Given the description of an element on the screen output the (x, y) to click on. 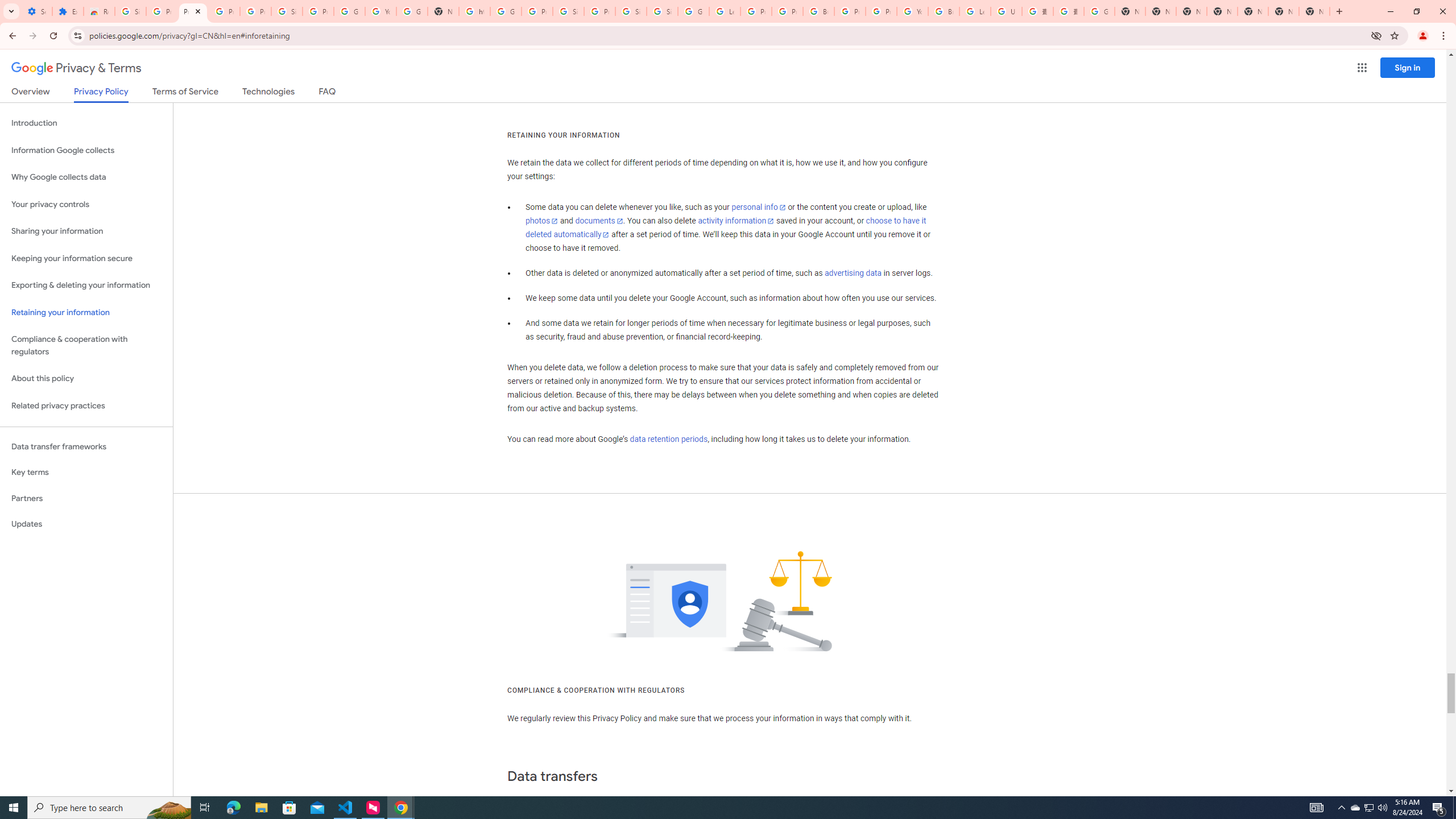
Extensions (67, 11)
Google Images (1098, 11)
YouTube (380, 11)
Reviews: Helix Fruit Jump Arcade Game (98, 11)
Related privacy practices (86, 405)
Google Account (349, 11)
